Given the description of an element on the screen output the (x, y) to click on. 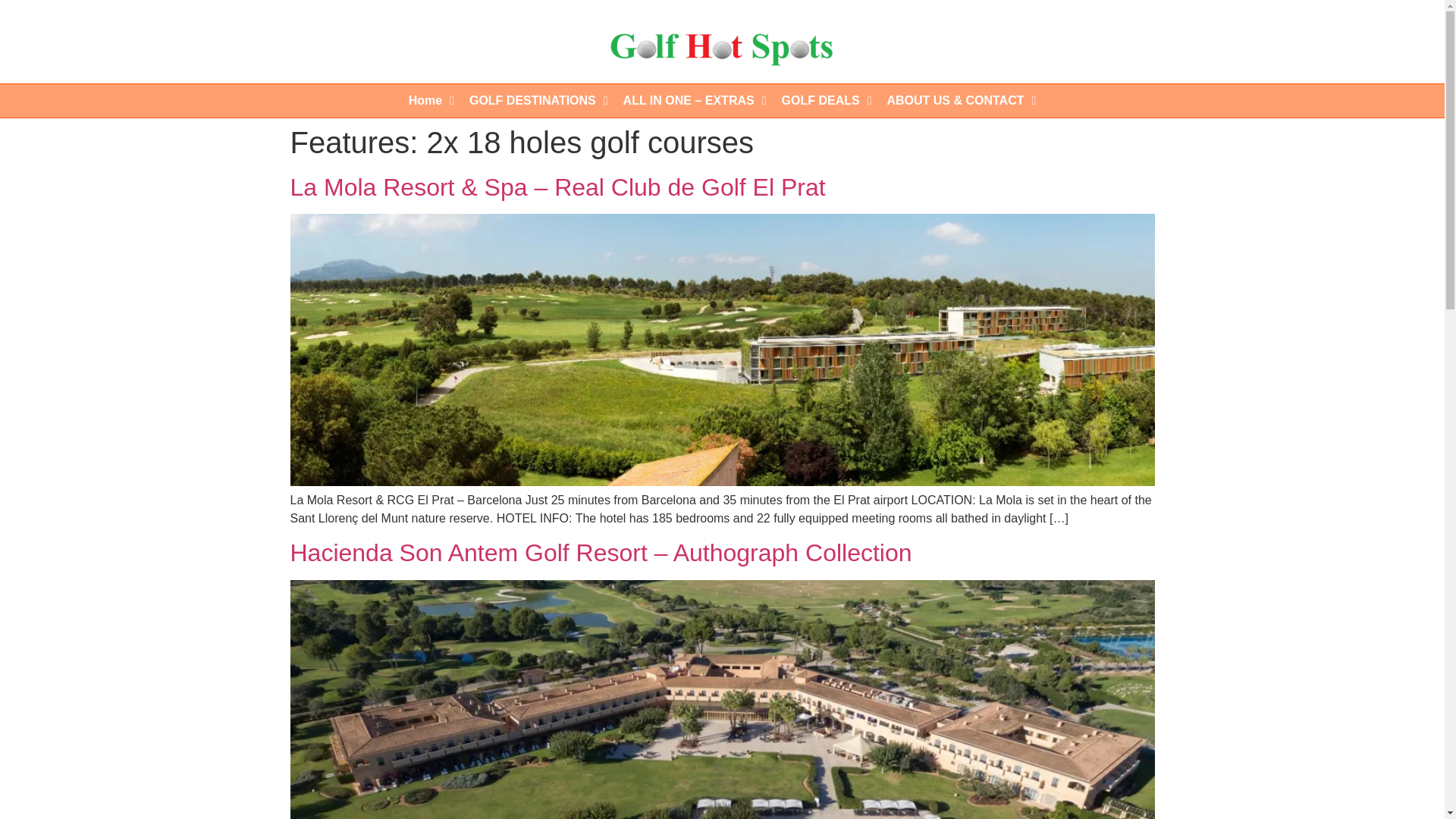
GOLF DESTINATIONS (538, 100)
Home (431, 100)
